Given the description of an element on the screen output the (x, y) to click on. 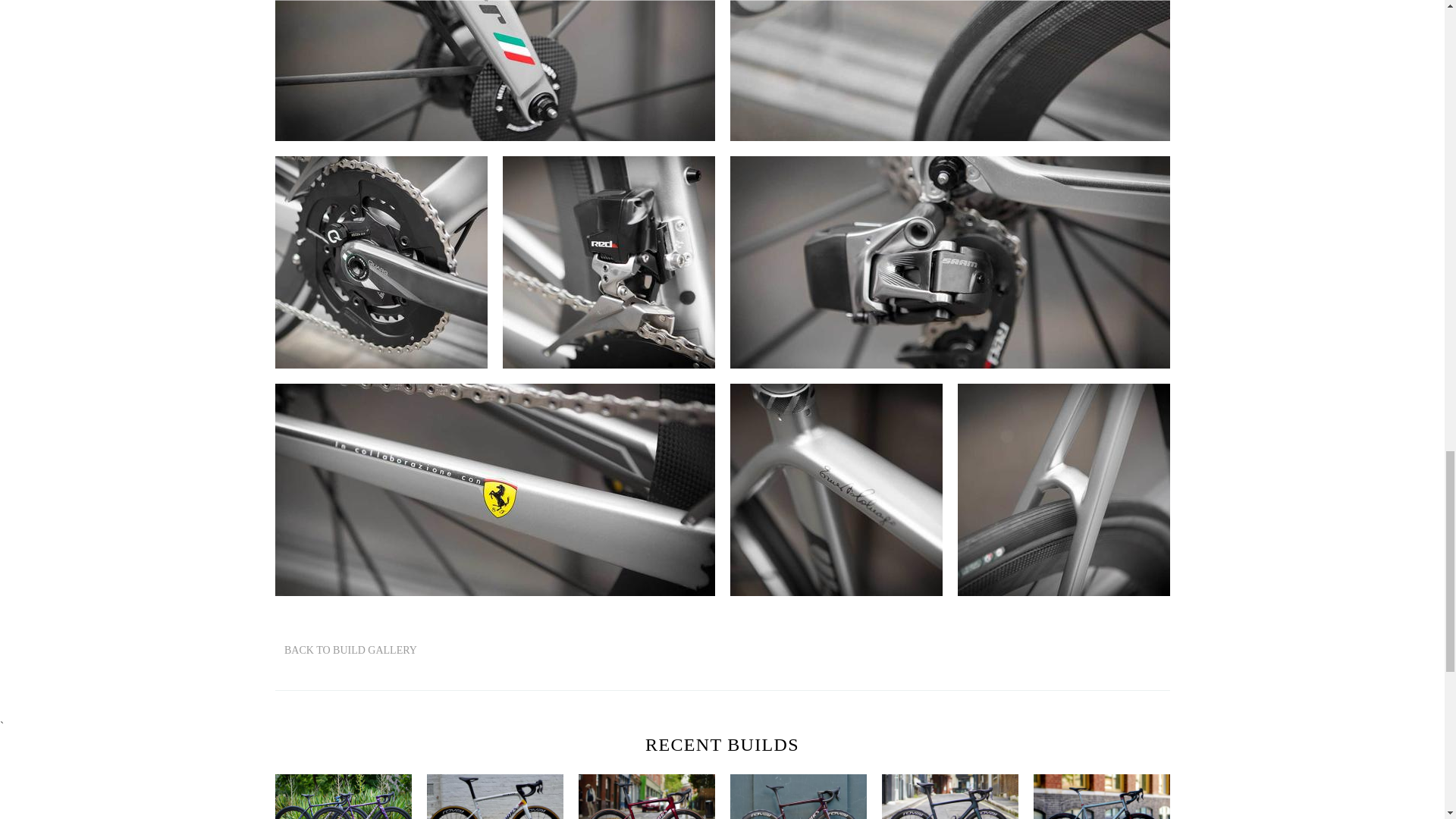
BACK TO BUILD GALLERY (345, 650)
SPECIAIZED S-WORKS TARMAC SL8 (494, 796)
SPECIALIZED S-WORKS TARMAC SL8 (646, 796)
MOOTS ROUTT CRD (1100, 796)
SPECIALIZED S-WORKS TARMAC SL8 (797, 796)
SPECIALIZED S-WORKS TARMAC SL8 (948, 796)
